Given the description of an element on the screen output the (x, y) to click on. 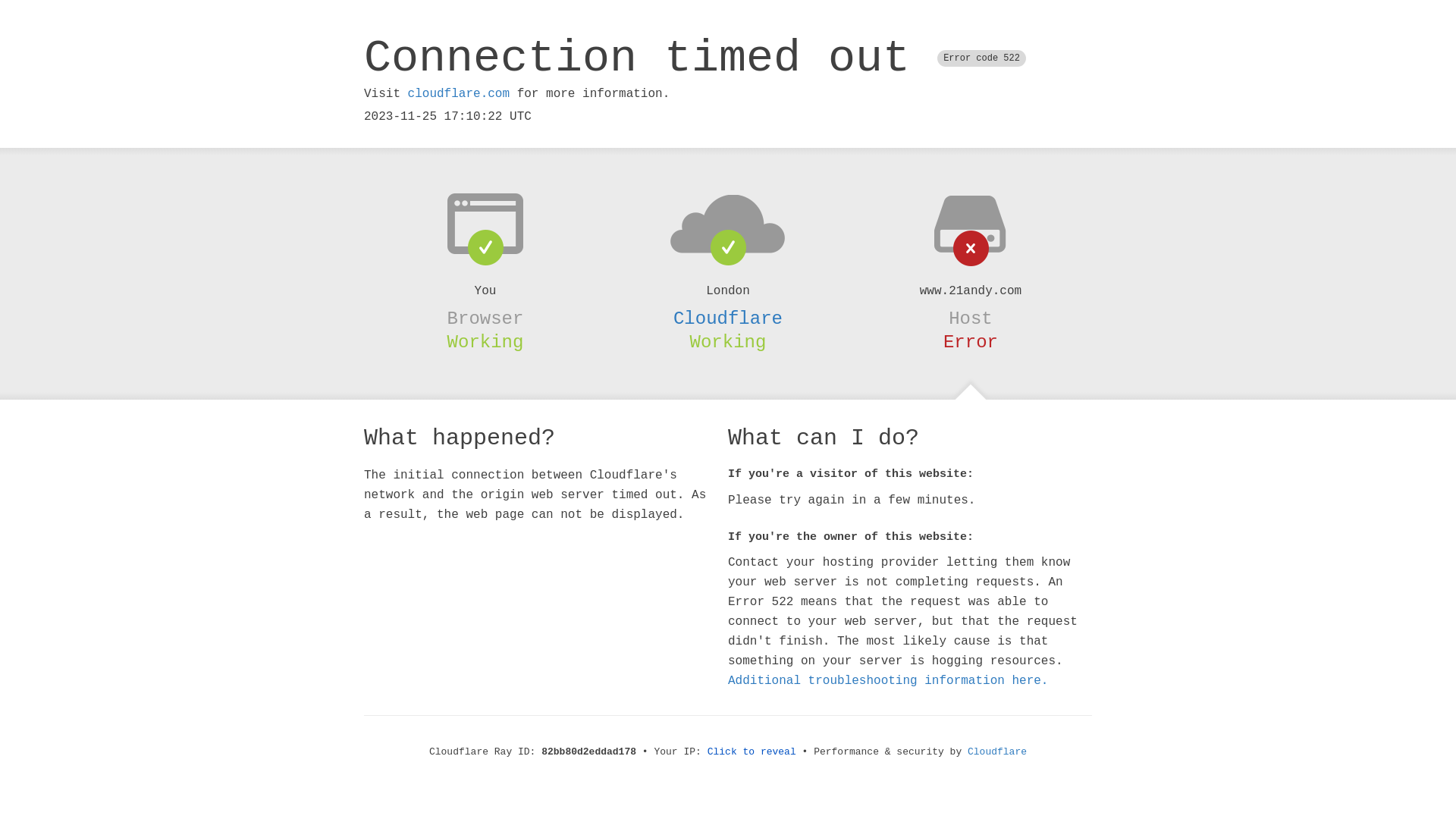
Cloudflare Element type: text (727, 318)
Cloudflare Element type: text (996, 751)
Additional troubleshooting information here. Element type: text (888, 680)
Click to reveal Element type: text (751, 751)
cloudflare.com Element type: text (458, 93)
